Given the description of an element on the screen output the (x, y) to click on. 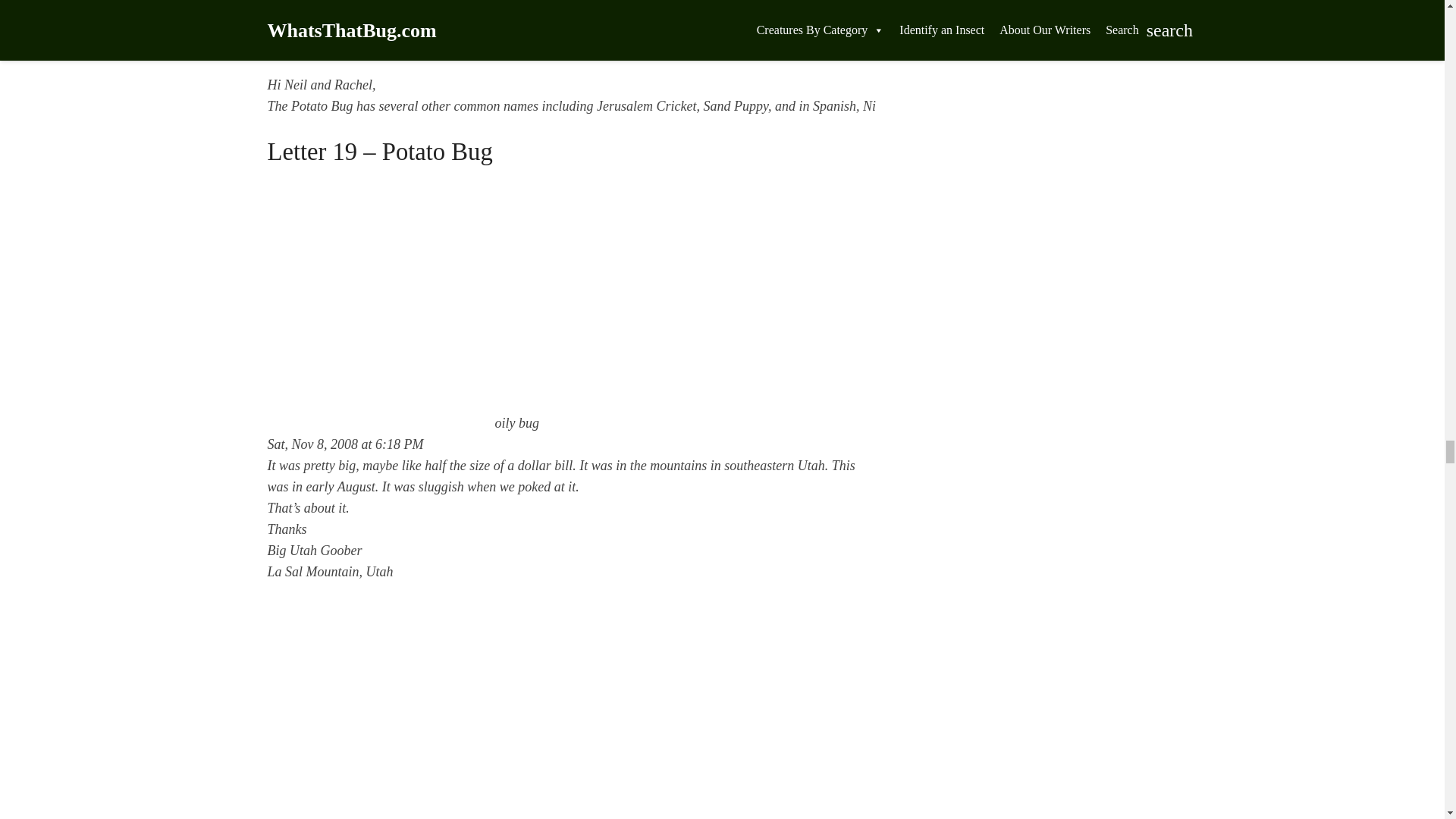
Potato Bug (380, 710)
